Given the description of an element on the screen output the (x, y) to click on. 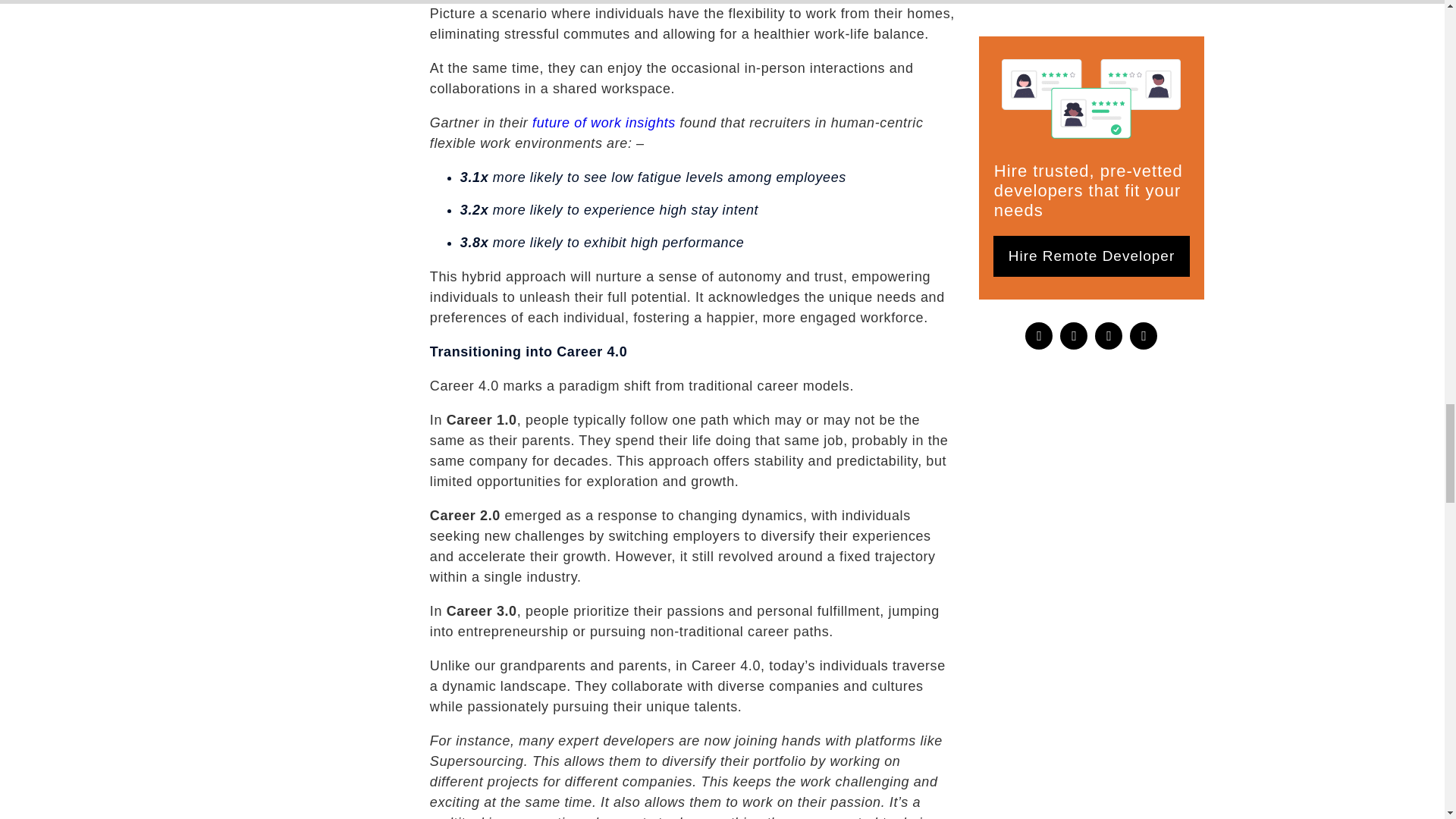
future of work insights (603, 122)
